Given the description of an element on the screen output the (x, y) to click on. 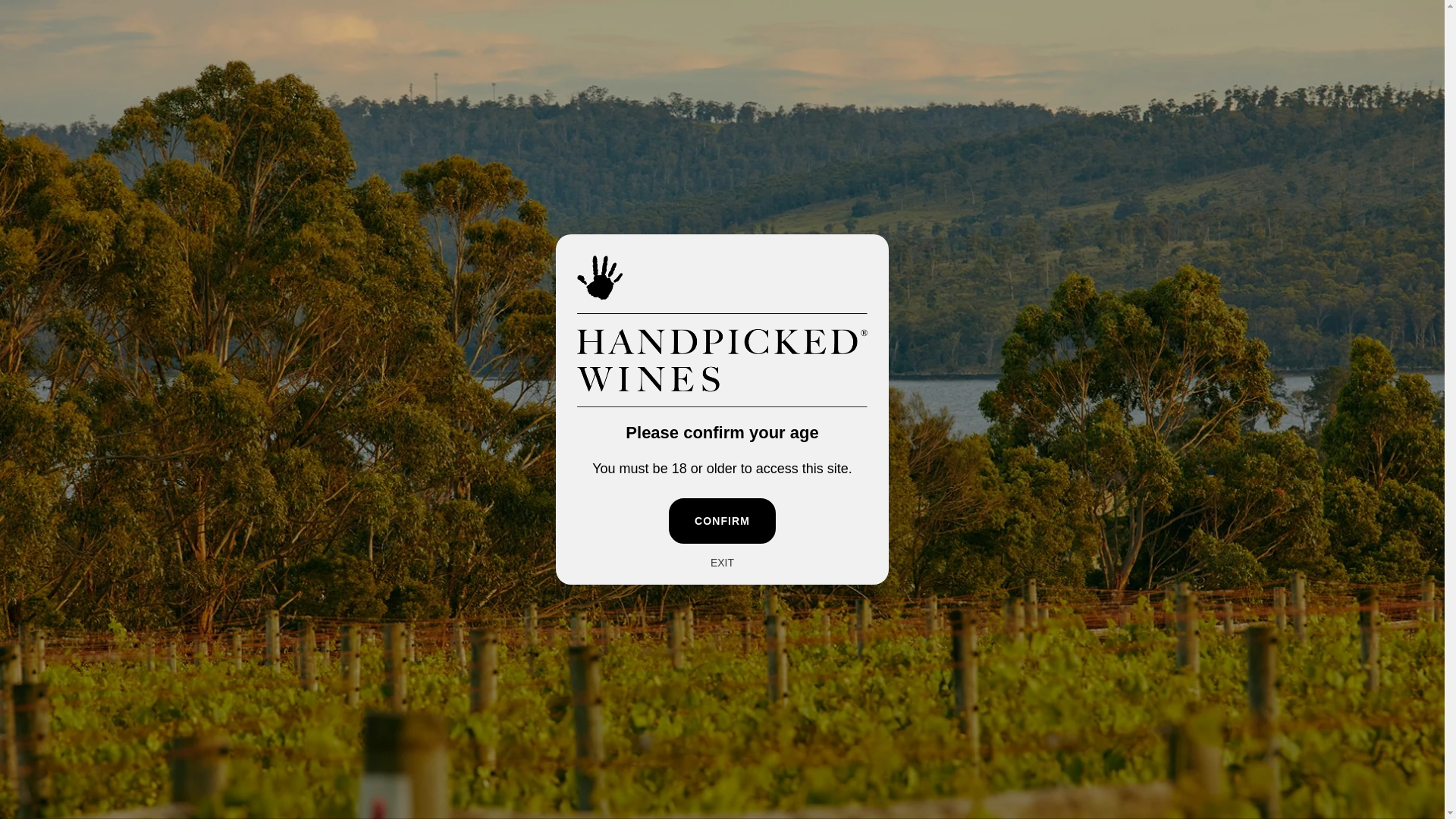
CONFIRM Element type: text (721, 520)
Facebook Element type: text (65, 418)
Account Element type: text (1277, 76)
Winemaking Element type: text (1326, 443)
EXIT Element type: text (722, 562)
Instagram Element type: text (78, 22)
Shop Element type: text (123, 76)
News Element type: text (1308, 510)
Search Element type: text (1333, 76)
Contact Element type: text (336, 76)
Click here for T&Cs Element type: text (882, 21)
Privacy Policy Element type: text (1380, 742)
Wines Element type: text (495, 421)
Handpicked Wines Element type: hover (722, 76)
Career Opportunities Element type: text (1347, 488)
Facebook Element type: text (56, 22)
Visit Element type: text (180, 76)
www.drinkwise.org.au Element type: text (145, 674)
Membership Element type: text (254, 76)
Terms & Conditions Element type: text (1299, 742)
Cart Element type: text (1394, 76)
About Element type: text (62, 76)
Blog Posts Element type: text (1321, 421)
try a search Element type: text (829, 251)
Twitter Element type: text (43, 418)
Shipping / FAQ's Element type: text (522, 465)
Our Vineyards Element type: text (1330, 465)
home page Element type: text (757, 251)
Rewards Club Element type: text (930, 421)
Cheese Shop Element type: text (512, 443)
Terms & Conditions Element type: text (1344, 532)
Twitter Element type: text (35, 22)
Handpicked Wines Element type: text (103, 707)
Instagram Element type: text (87, 418)
